Given the description of an element on the screen output the (x, y) to click on. 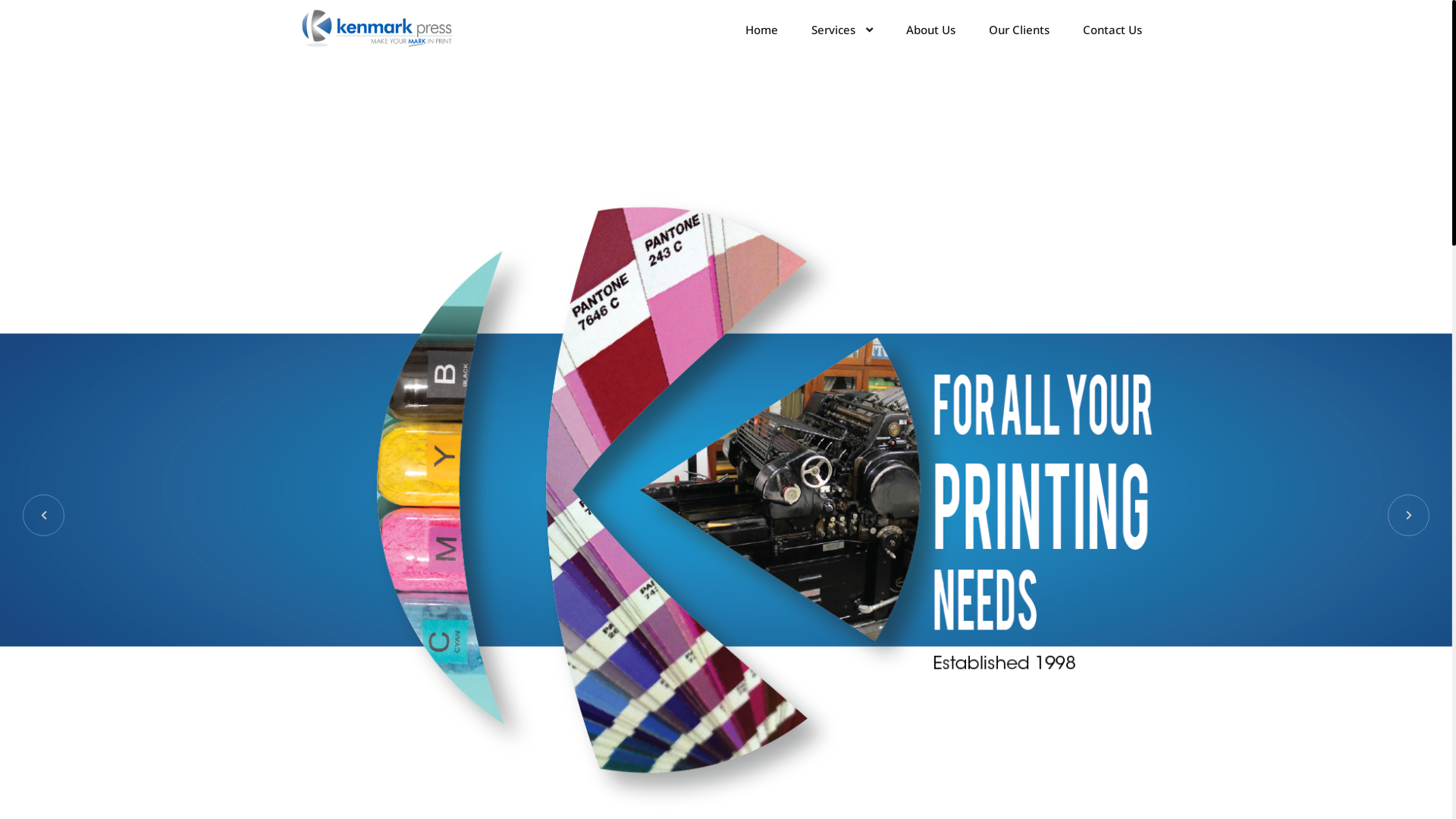
Services Element type: text (841, 29)
Contact Us Element type: text (1111, 29)
Home Element type: text (761, 29)
Kenmark Press Element type: hover (376, 29)
About Us Element type: text (930, 29)
Our Clients Element type: text (1018, 29)
